Given the description of an element on the screen output the (x, y) to click on. 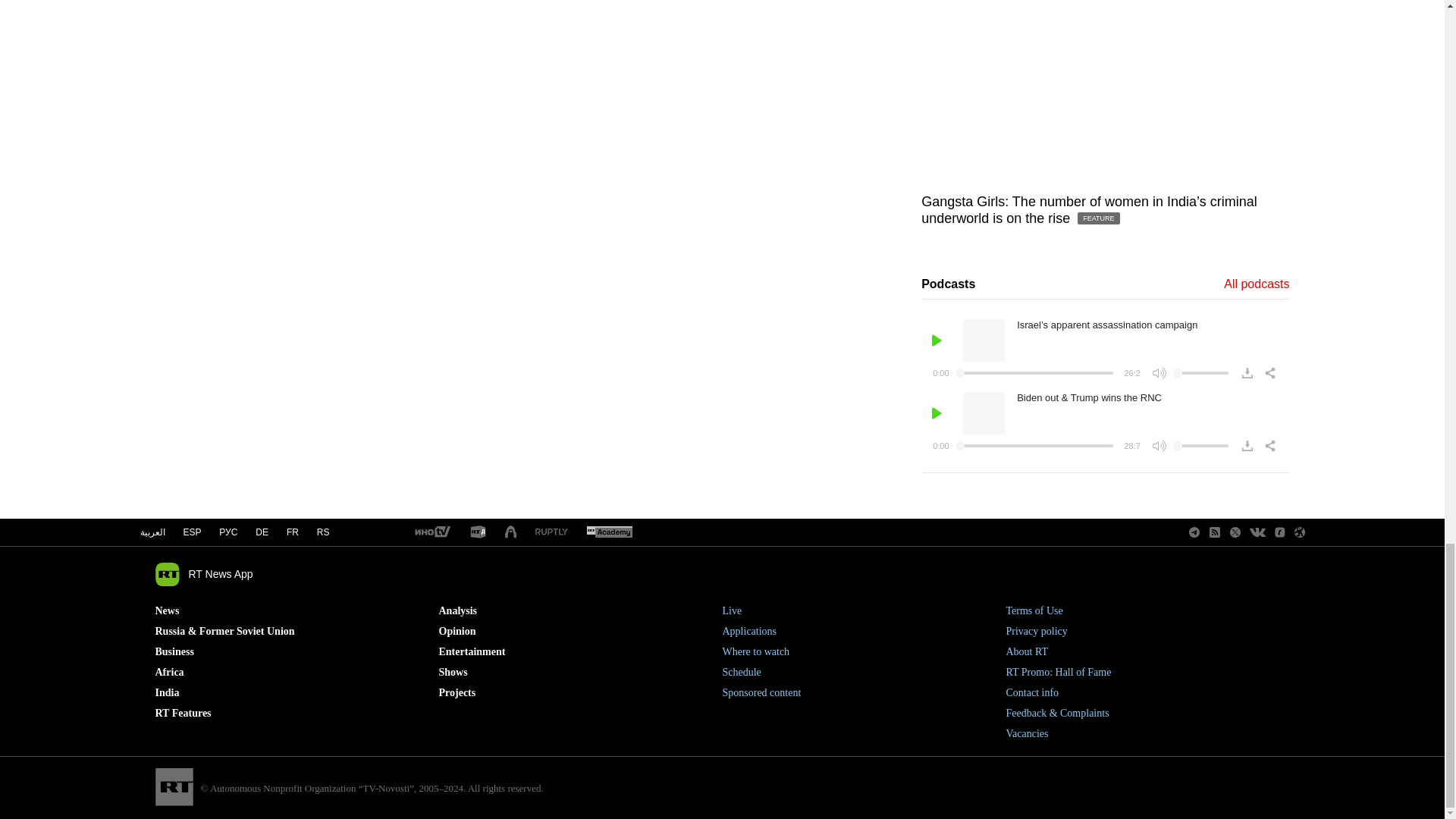
RT  (551, 532)
RT  (478, 532)
RT  (608, 532)
RT  (431, 532)
